Given the description of an element on the screen output the (x, y) to click on. 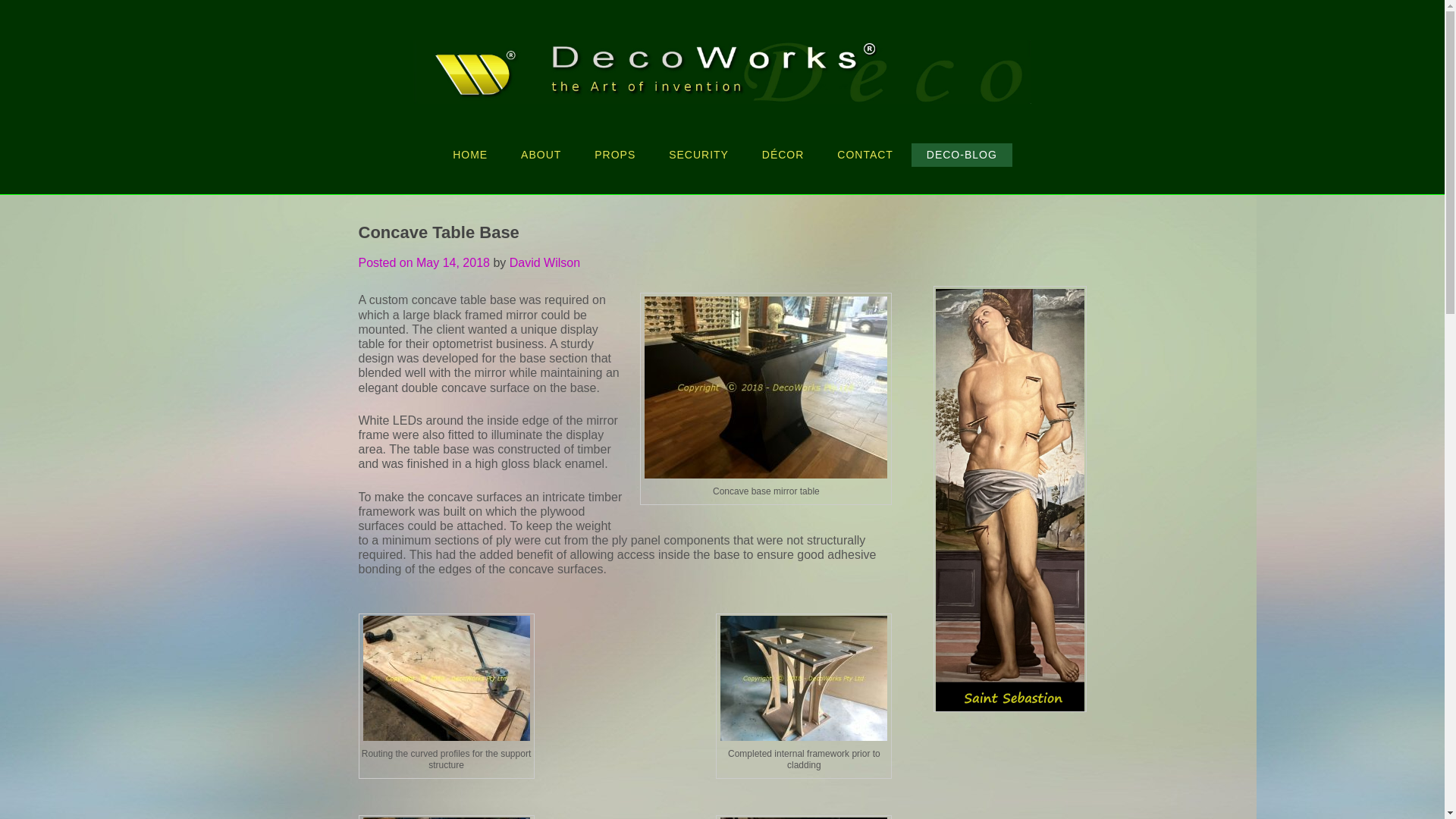
SECURITY (698, 155)
ABOUT (540, 155)
David Wilson (544, 262)
CONTACT (865, 155)
View all posts by David Wilson (544, 262)
Concave Table Base (624, 224)
9:22 am (452, 262)
May 14, 2018 (452, 262)
PROPS (614, 155)
DECO-BLOG (961, 155)
